Given the description of an element on the screen output the (x, y) to click on. 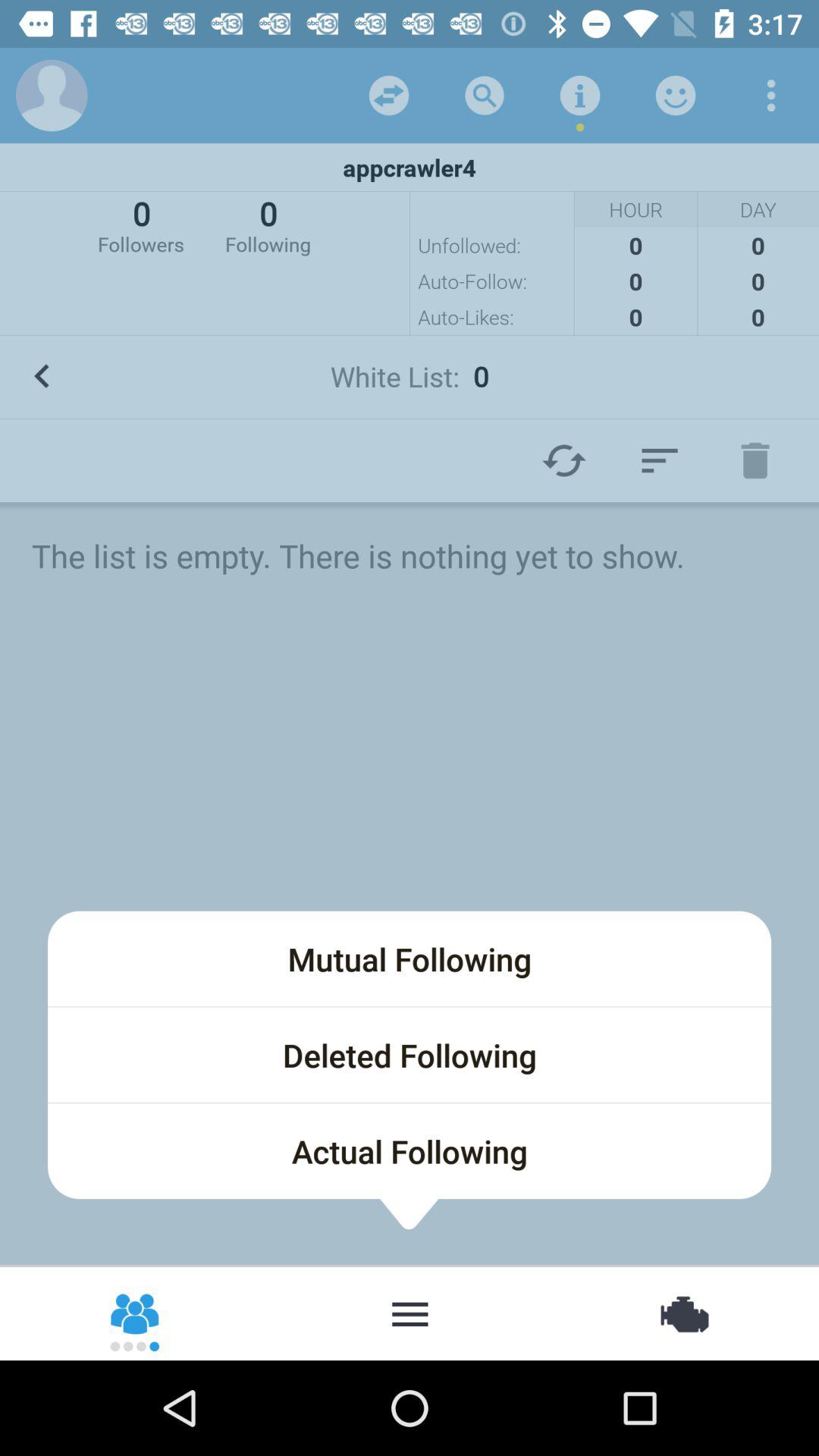
more options (771, 95)
